Given the description of an element on the screen output the (x, y) to click on. 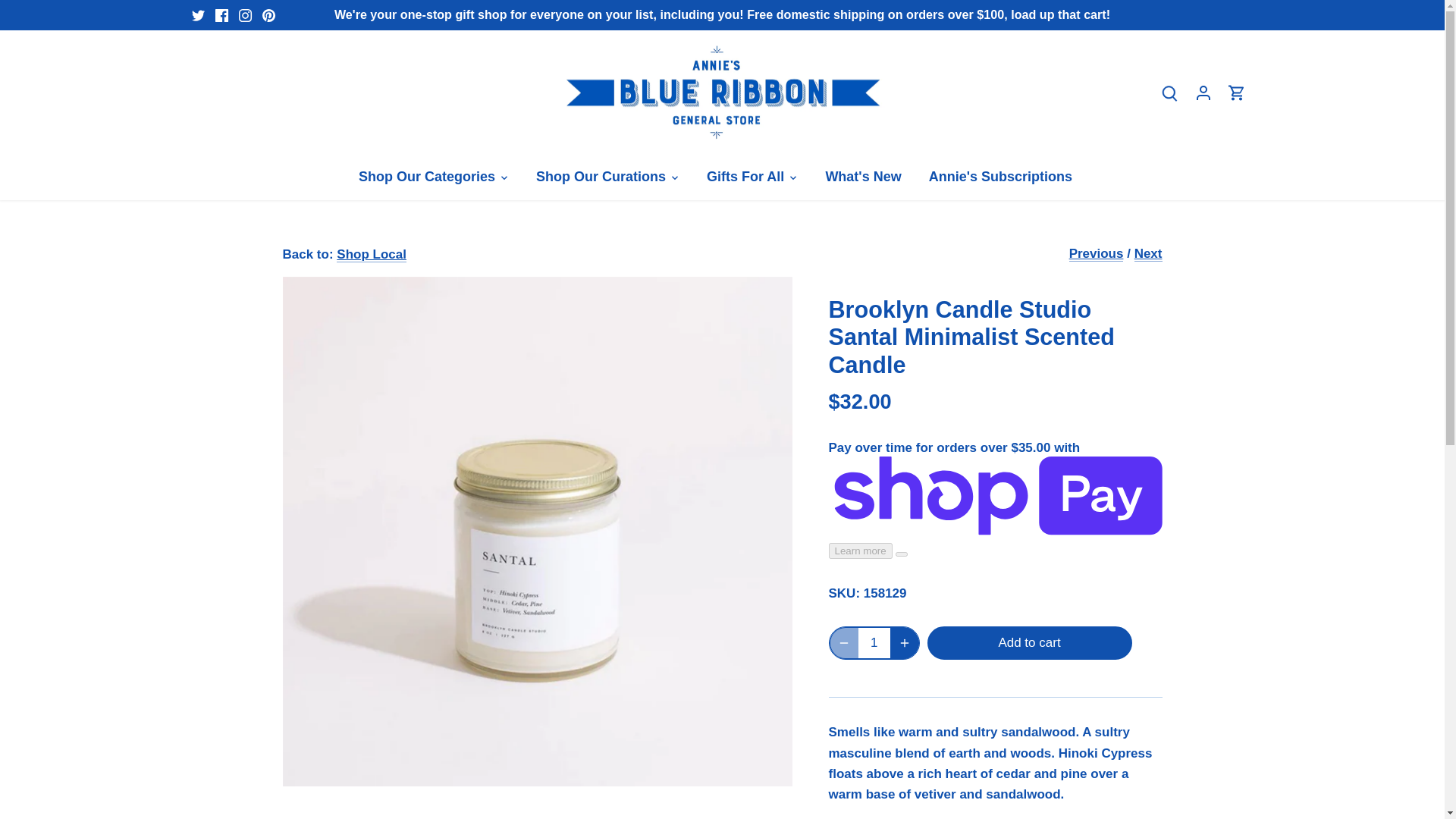
1 (875, 643)
Shop Local (371, 254)
Twitter (196, 15)
Pinterest (268, 15)
Facebook (221, 15)
Shop Our Categories (433, 176)
Instagram (244, 15)
